Given the description of an element on the screen output the (x, y) to click on. 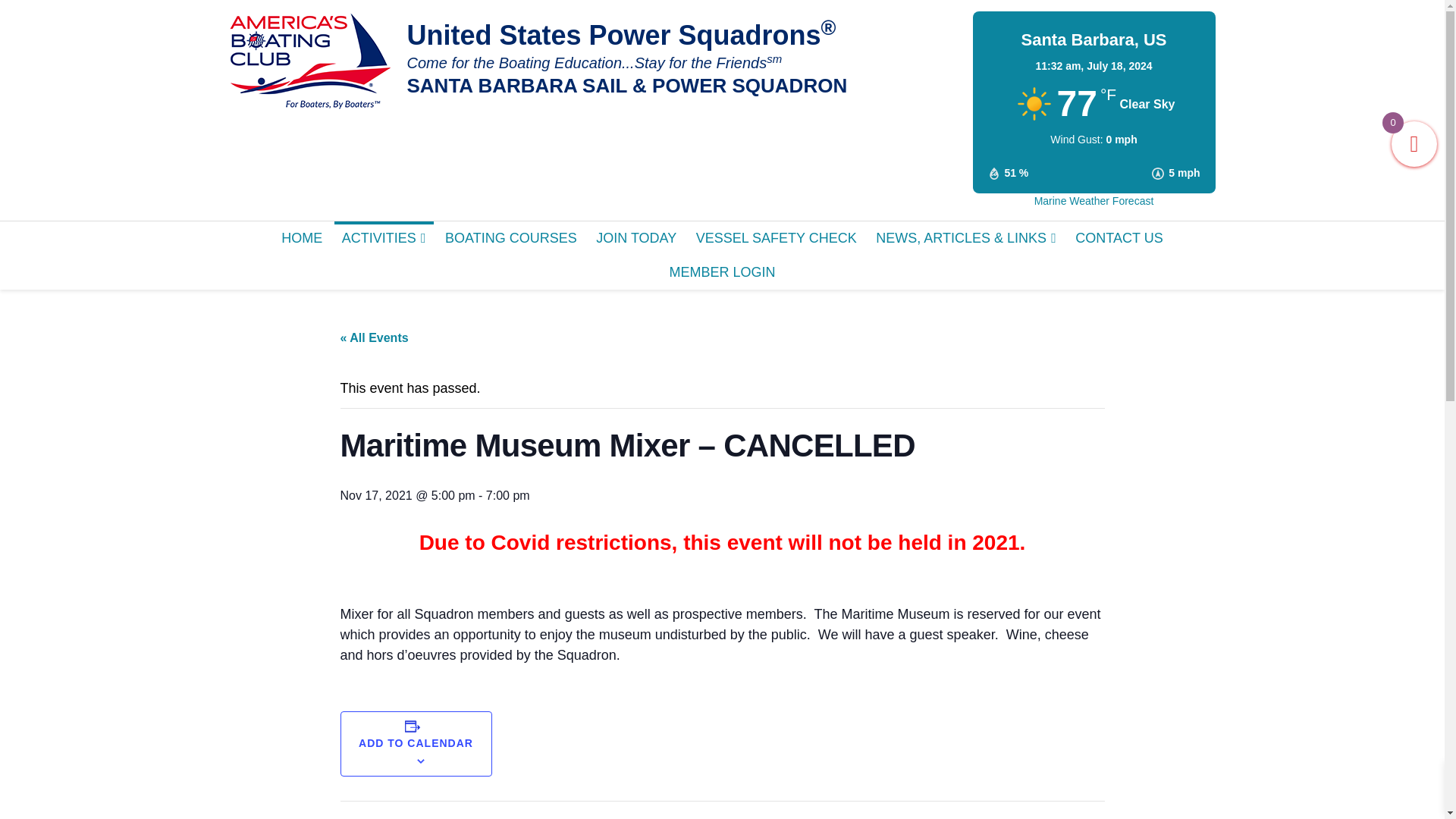
Marine Weather Forecast (1093, 200)
VESSEL SAFETY CHECK (776, 238)
MEMBER LOGIN (722, 272)
ADD TO CALENDAR (415, 743)
ACTIVITIES (383, 238)
HOME (301, 238)
CONTACT US (1118, 238)
BOATING COURSES (511, 238)
JOIN TODAY (636, 238)
